Given the description of an element on the screen output the (x, y) to click on. 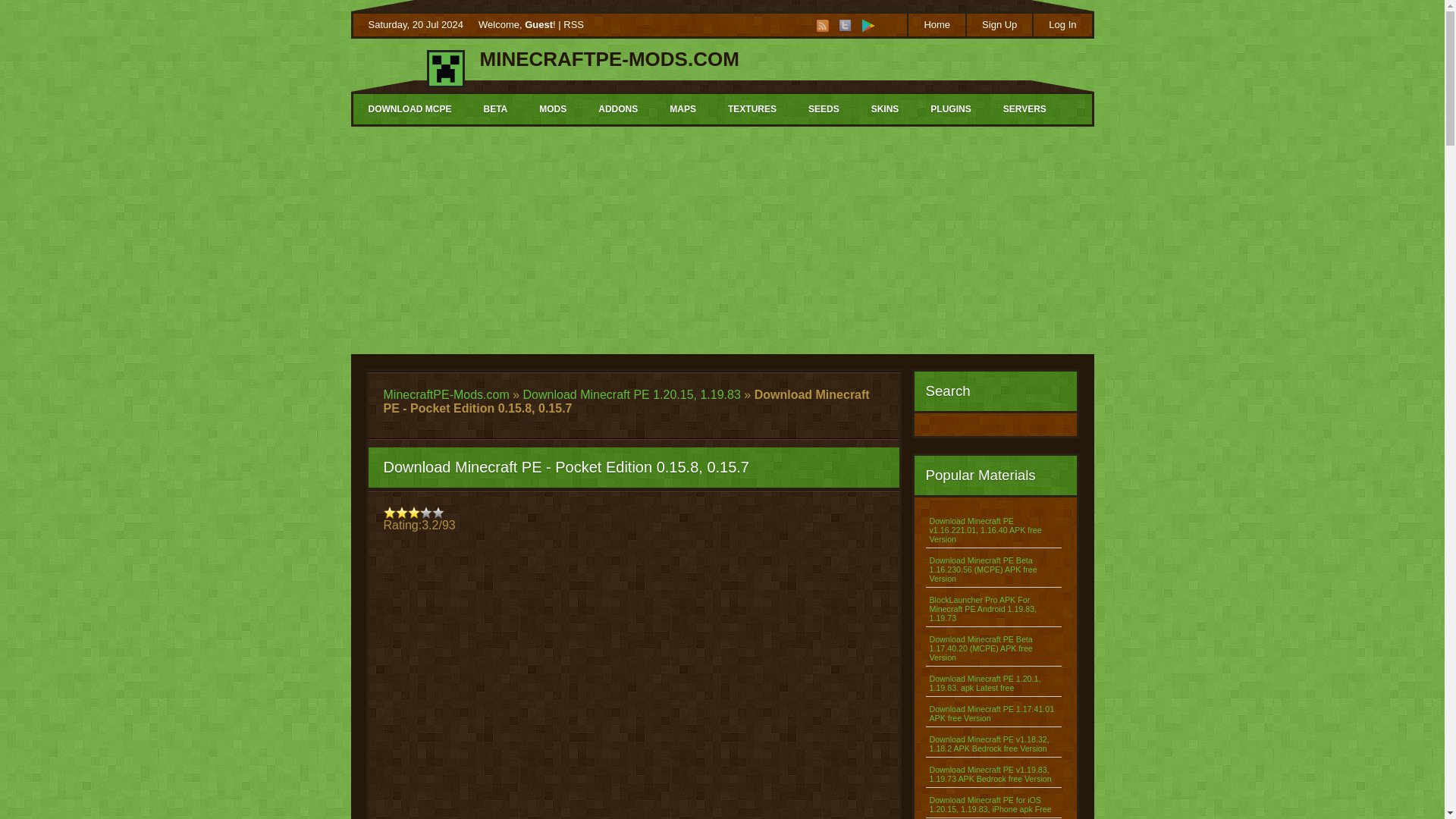
MinecraftPE-Mods.com apk (868, 25)
MAPS (681, 109)
RSS (822, 25)
Log In (1061, 24)
Home (936, 24)
Log In (1061, 24)
BETA (494, 109)
Twitter (845, 25)
RSS (573, 24)
MODS (551, 109)
ADDONS (616, 109)
DOWNLOAD MCPE (410, 109)
Sign Up (998, 24)
Sign Up (998, 24)
